Given the description of an element on the screen output the (x, y) to click on. 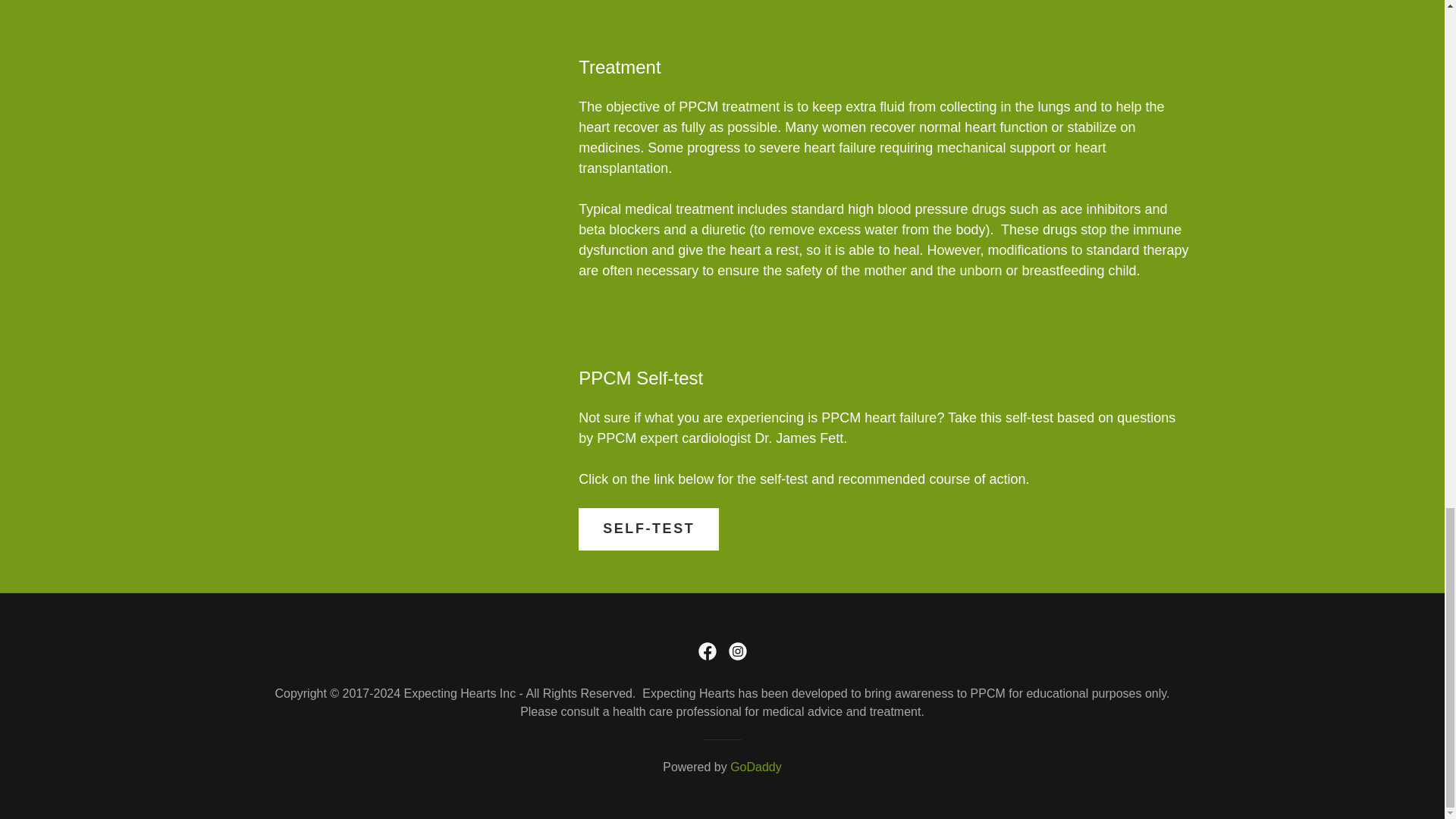
GoDaddy (755, 766)
SELF-TEST (648, 528)
